Given the description of an element on the screen output the (x, y) to click on. 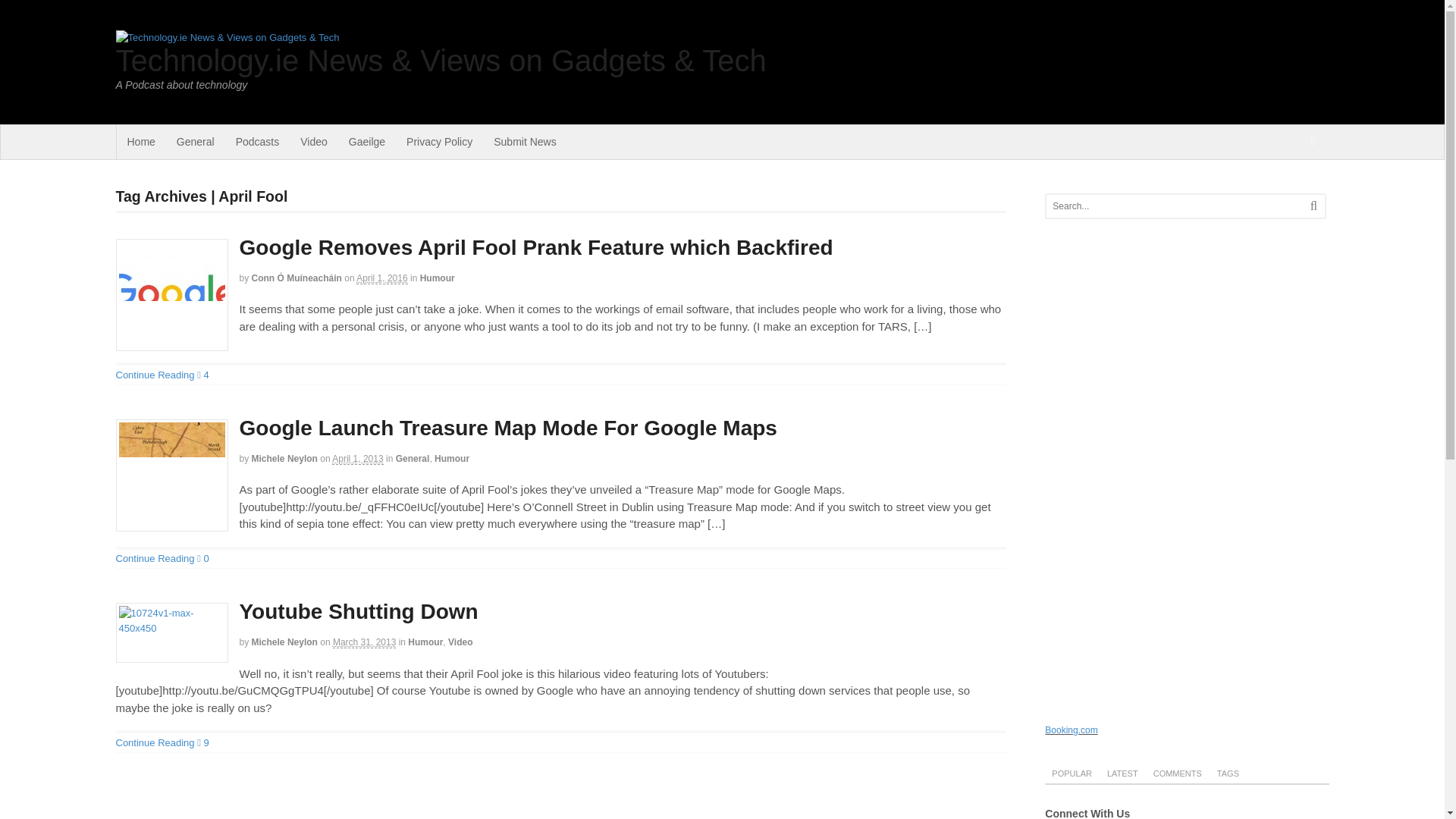
4 (202, 374)
Gaeilge (366, 141)
Michele Neylon (284, 458)
Podcasts (257, 141)
Google Removes April Fool Prank Feature which Backfired (536, 247)
Google Launch Treasure Map Mode For Google Maps (508, 427)
Humour (424, 642)
Google Removes April Fool Prank Feature which Backfired (171, 295)
LATEST (1122, 771)
Continue Reading (154, 742)
